Given the description of an element on the screen output the (x, y) to click on. 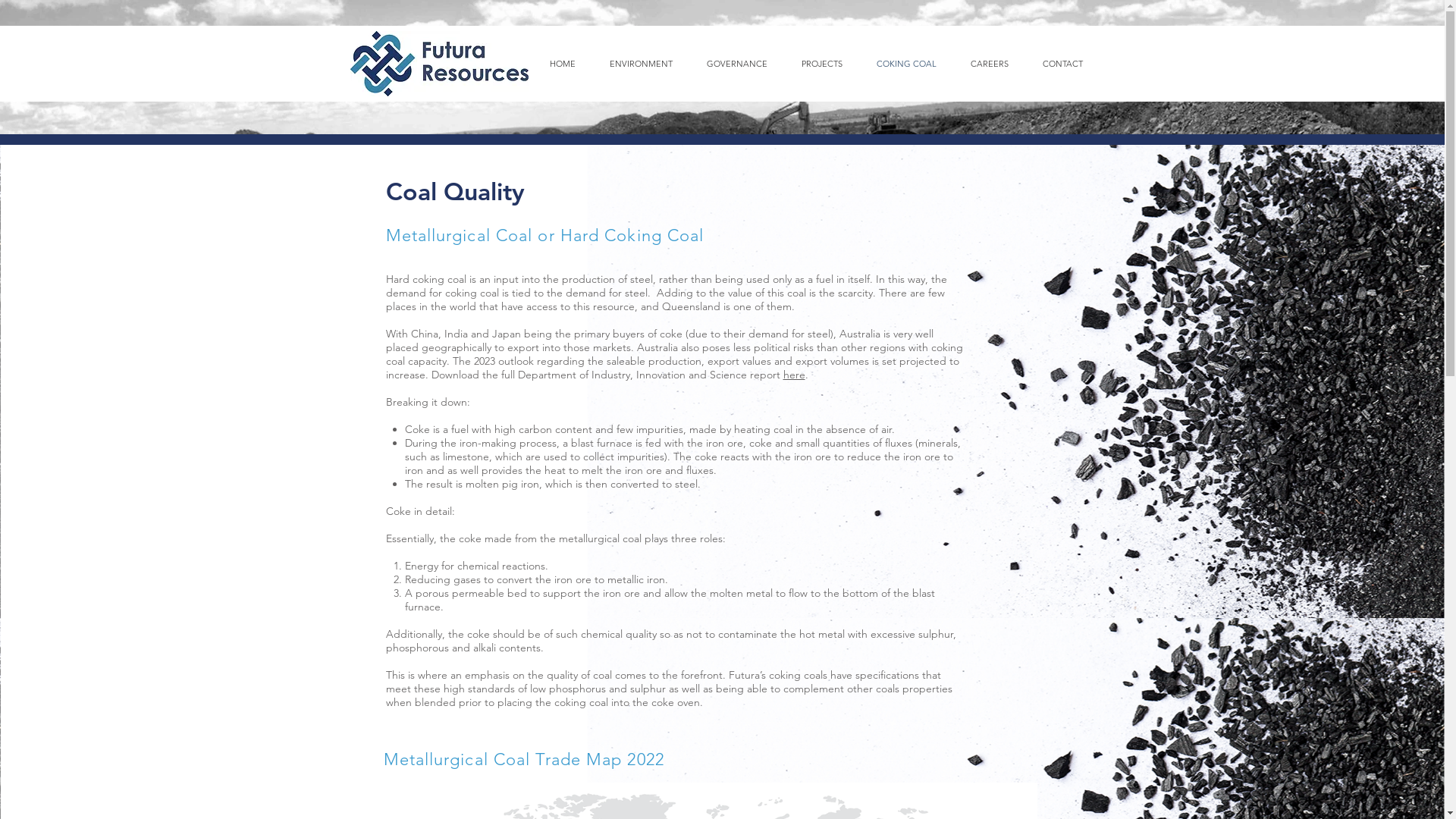
ENVIRONMENT Element type: text (641, 63)
COKING COAL Element type: text (906, 63)
HOME Element type: text (562, 63)
GOVERNANCE Element type: text (737, 63)
CAREERS Element type: text (989, 63)
CONTACT Element type: text (1062, 63)
here Element type: text (793, 374)
PROJECTS Element type: text (821, 63)
